Given the description of an element on the screen output the (x, y) to click on. 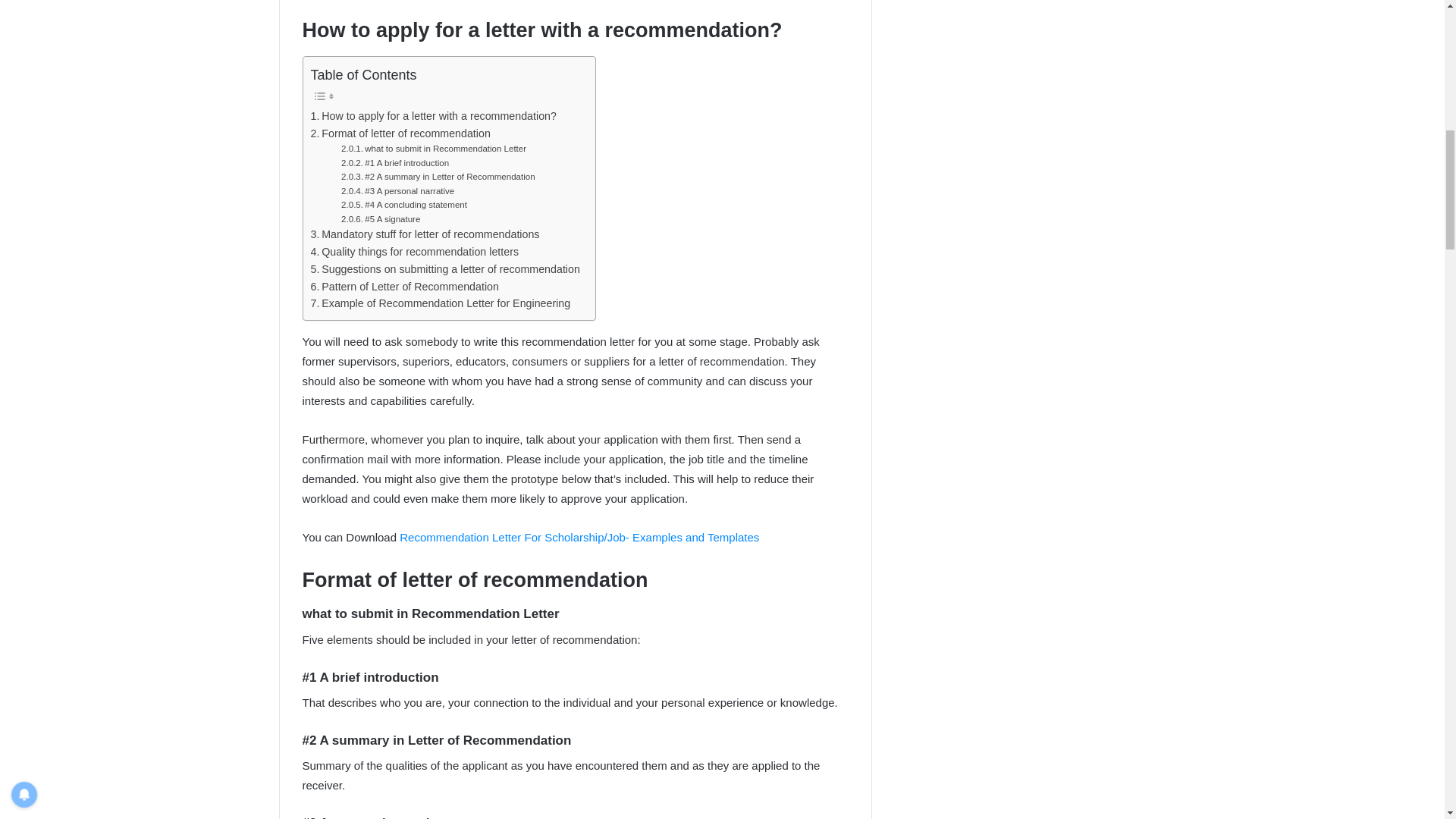
what to submit in Recommendation Letter (432, 148)
what to submit in Recommendation Letter (432, 148)
Format of letter of recommendation (400, 133)
Mandatory stuff for letter of recommendations (425, 234)
Format of letter of recommendation (400, 133)
Suggestions on submitting a letter of recommendation (445, 269)
Quality things for recommendation letters (415, 252)
Pattern of Letter of Recommendation (405, 286)
How to apply for a letter with a recommendation? (433, 116)
How to apply for a letter with a recommendation? (433, 116)
Example of Recommendation Letter for Engineering (440, 303)
